Given the description of an element on the screen output the (x, y) to click on. 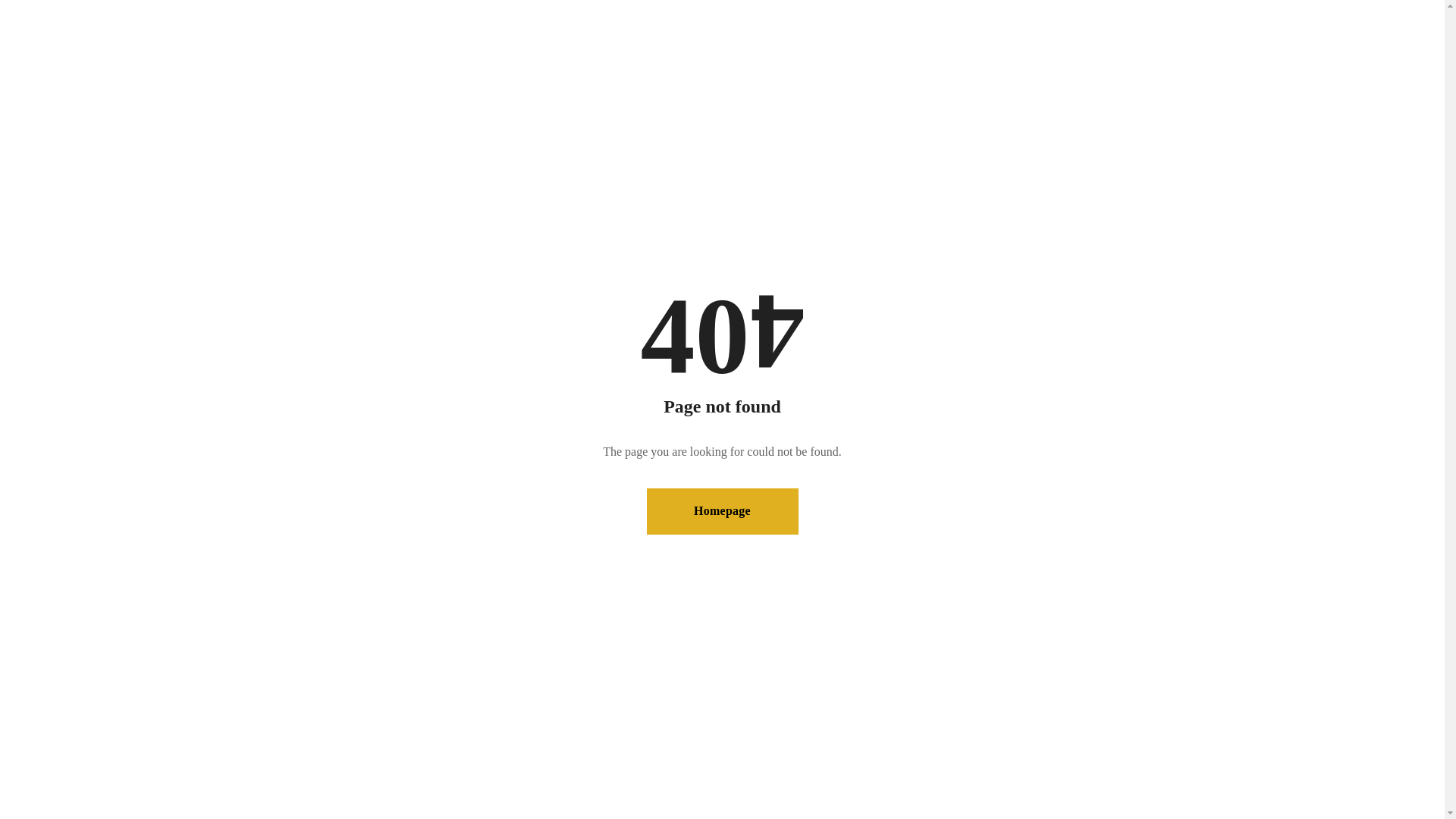
Homepage Element type: text (721, 511)
